Given the description of an element on the screen output the (x, y) to click on. 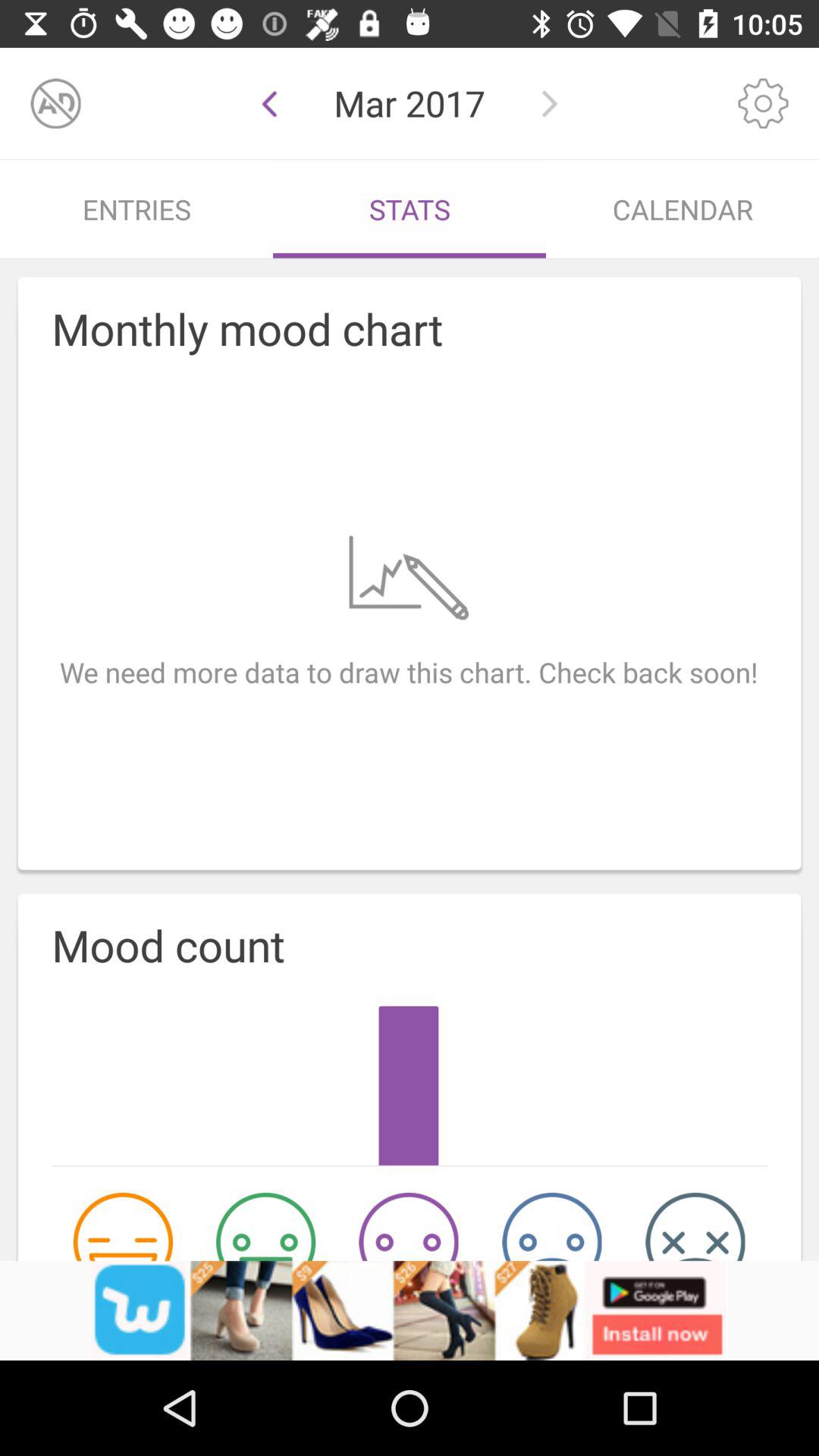
settings (763, 103)
